Given the description of an element on the screen output the (x, y) to click on. 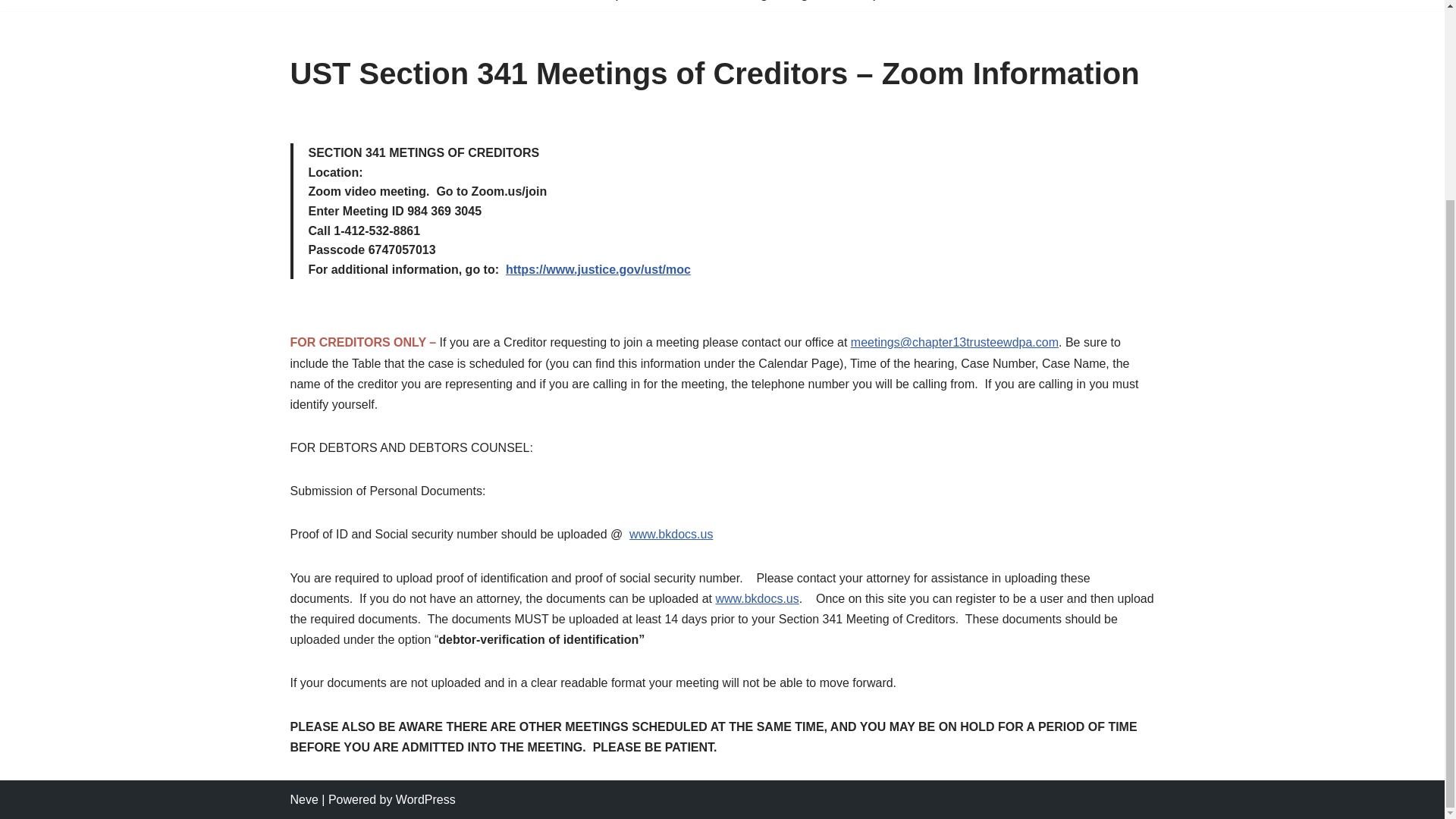
www.bkdocs.us (755, 598)
Important Information Regarding Your Chapter 13 Plan (774, 2)
www.bkdocs.us (670, 533)
Neve (303, 799)
WordPress (425, 799)
